Given the description of an element on the screen output the (x, y) to click on. 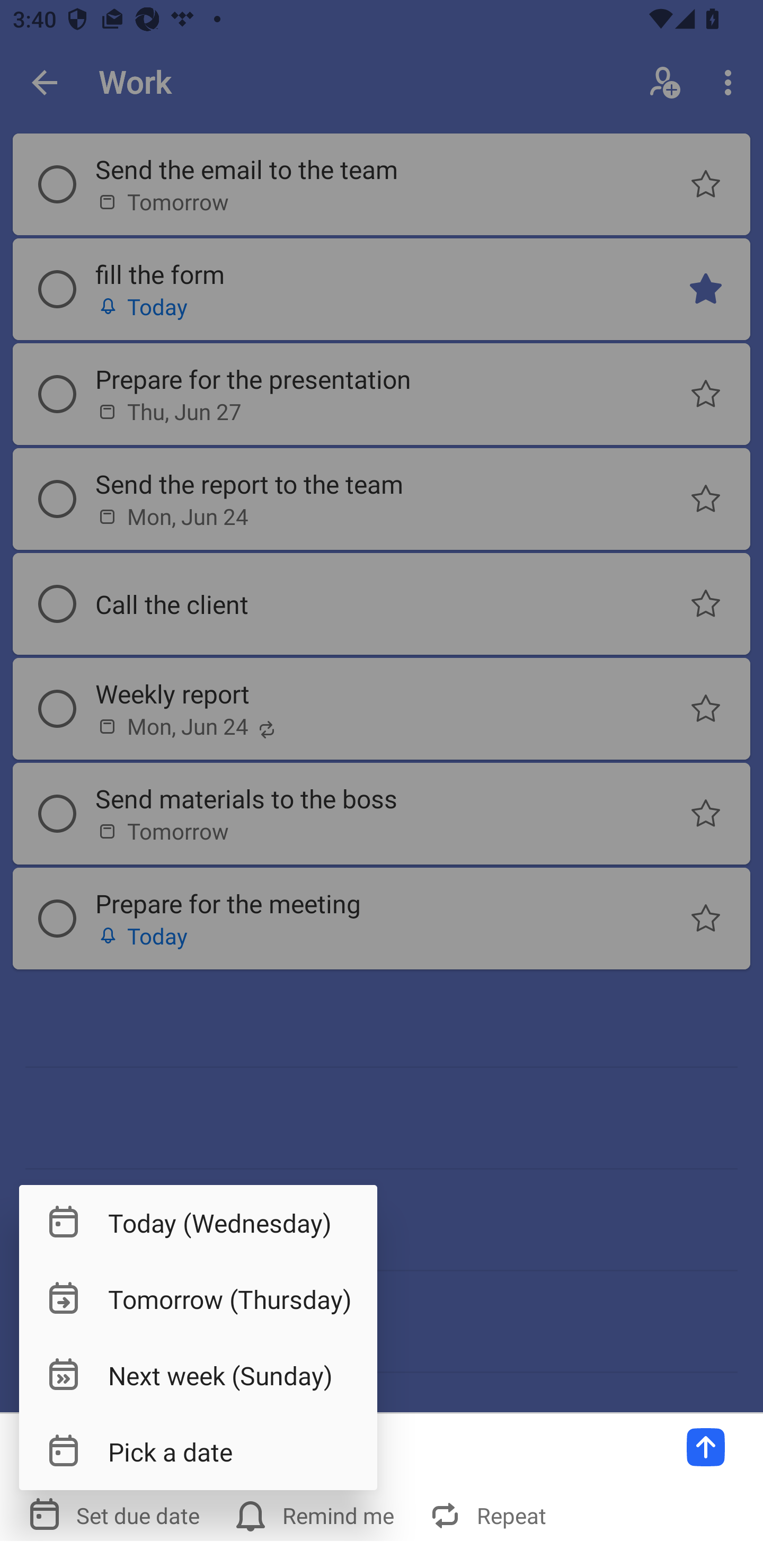
Pick a date4 in 4 Pick a date (197, 1451)
